Given the description of an element on the screen output the (x, y) to click on. 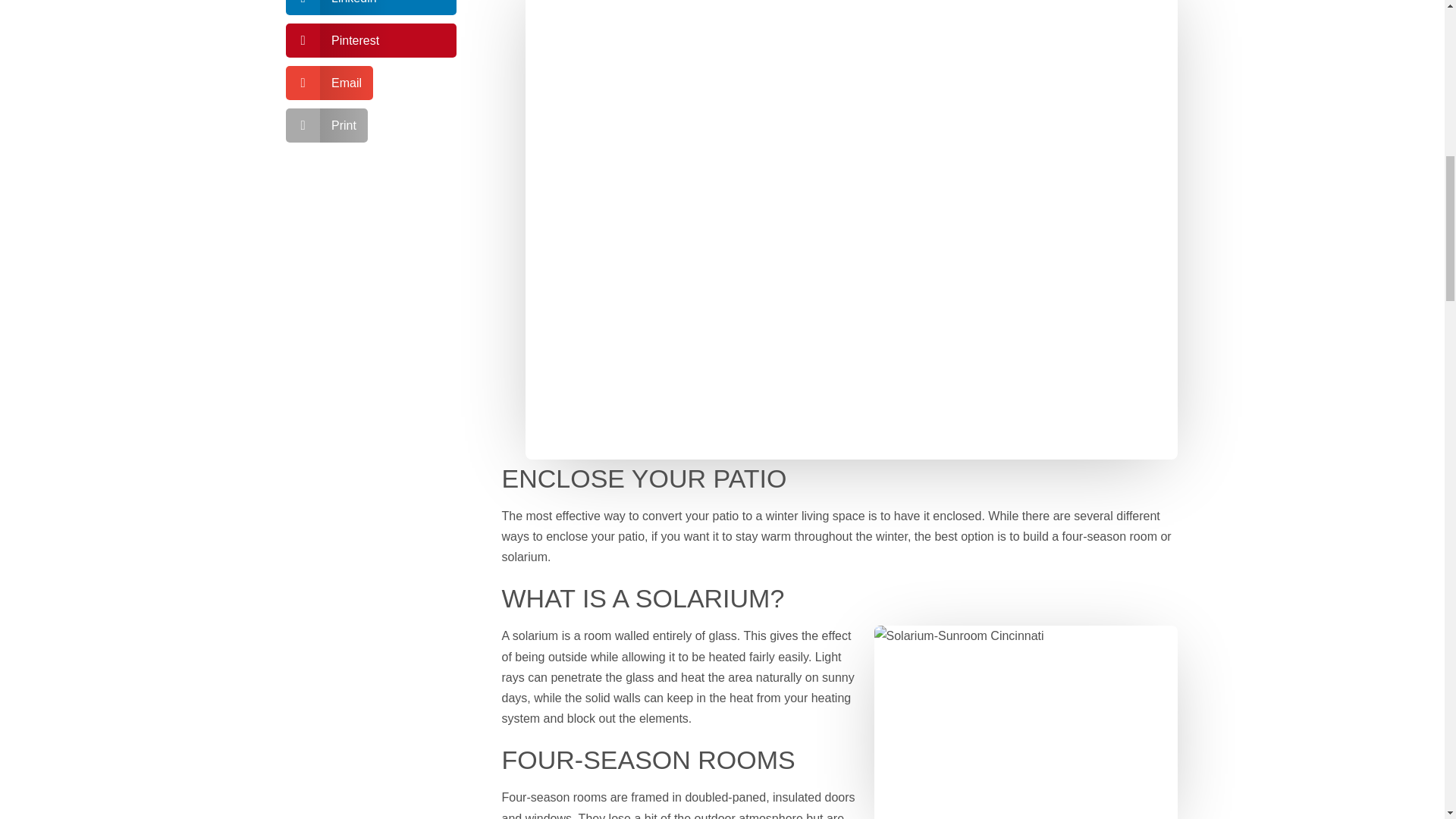
 - US Custom Creations (1024, 722)
